Given the description of an element on the screen output the (x, y) to click on. 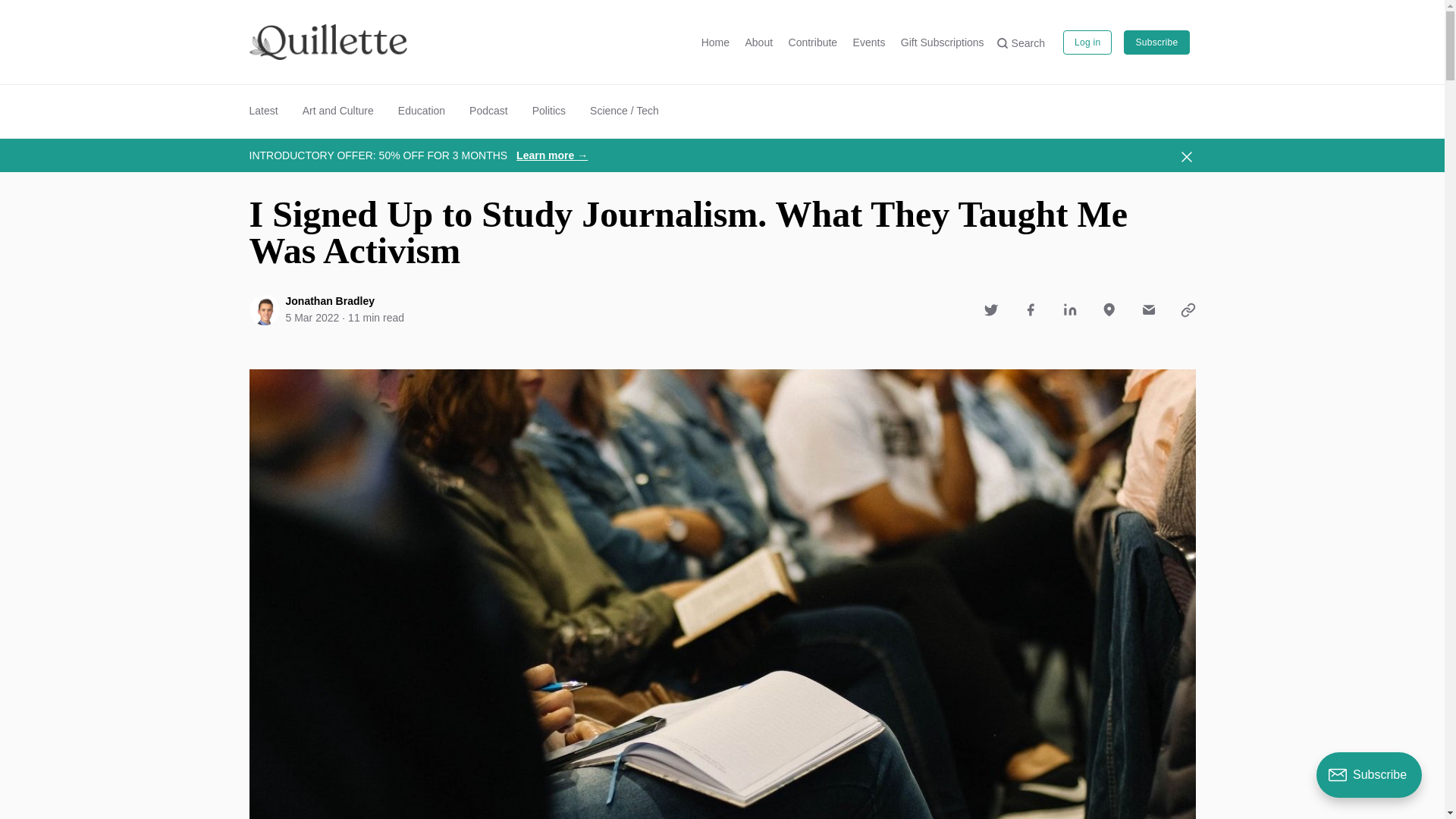
About (758, 42)
Gift Subscriptions (942, 42)
Events (869, 42)
Search (1020, 43)
Jonathan Bradley (329, 300)
Art and Culture (338, 111)
Log in (1087, 42)
Dismiss (1185, 156)
Home (715, 42)
Contribute (813, 42)
Subscribe (1156, 42)
